Given the description of an element on the screen output the (x, y) to click on. 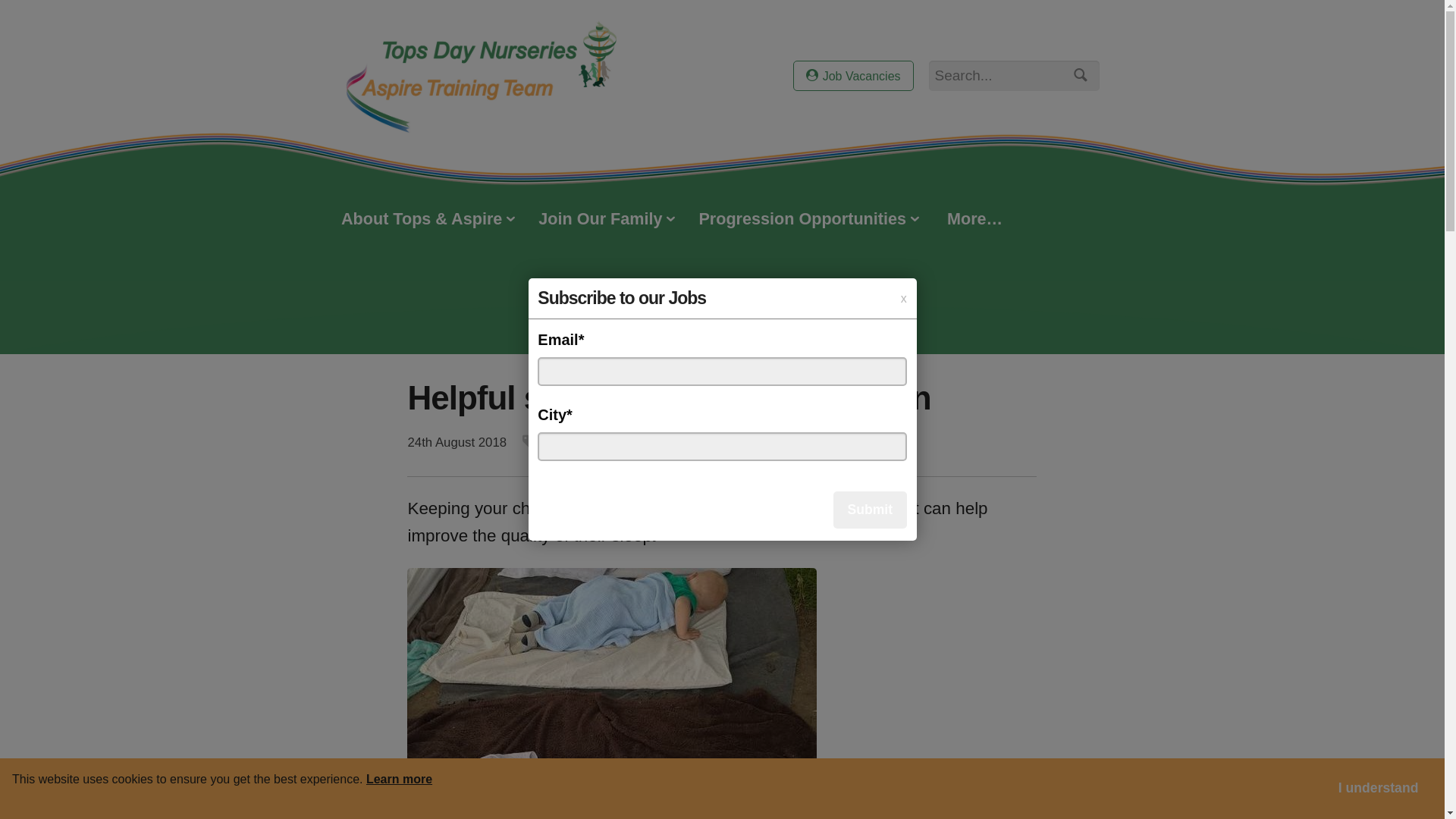
Search (1077, 77)
Join Our Family (606, 219)
Search (1077, 77)
Job Vacancies (852, 75)
Learn more (399, 778)
Progression Opportunities (808, 219)
I understand (1377, 788)
Submit (869, 509)
Search (1077, 77)
